Given the description of an element on the screen output the (x, y) to click on. 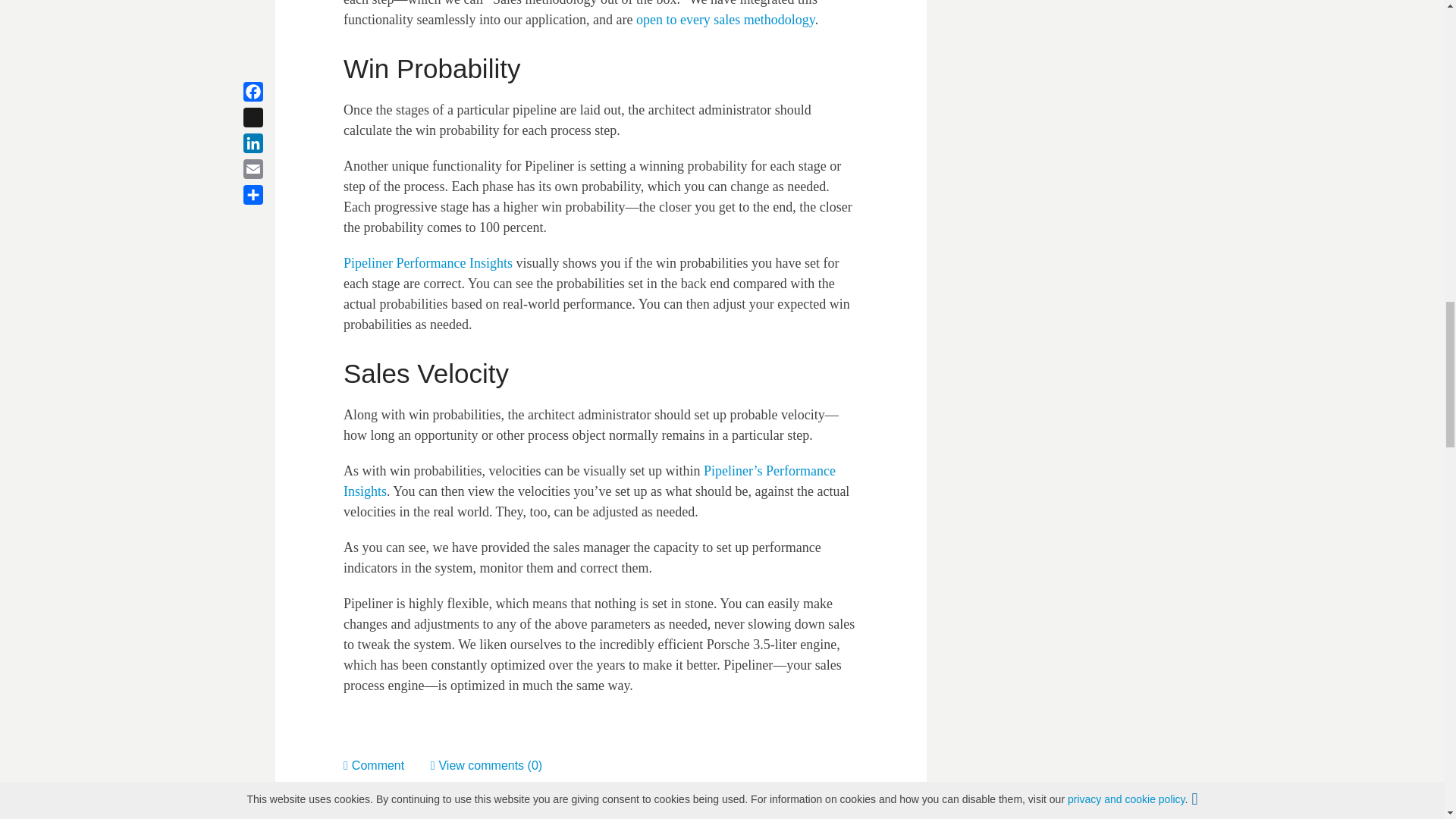
open to every sales methodology (725, 19)
Comment (386, 765)
Pipeliner Performance Insights (427, 263)
